Given the description of an element on the screen output the (x, y) to click on. 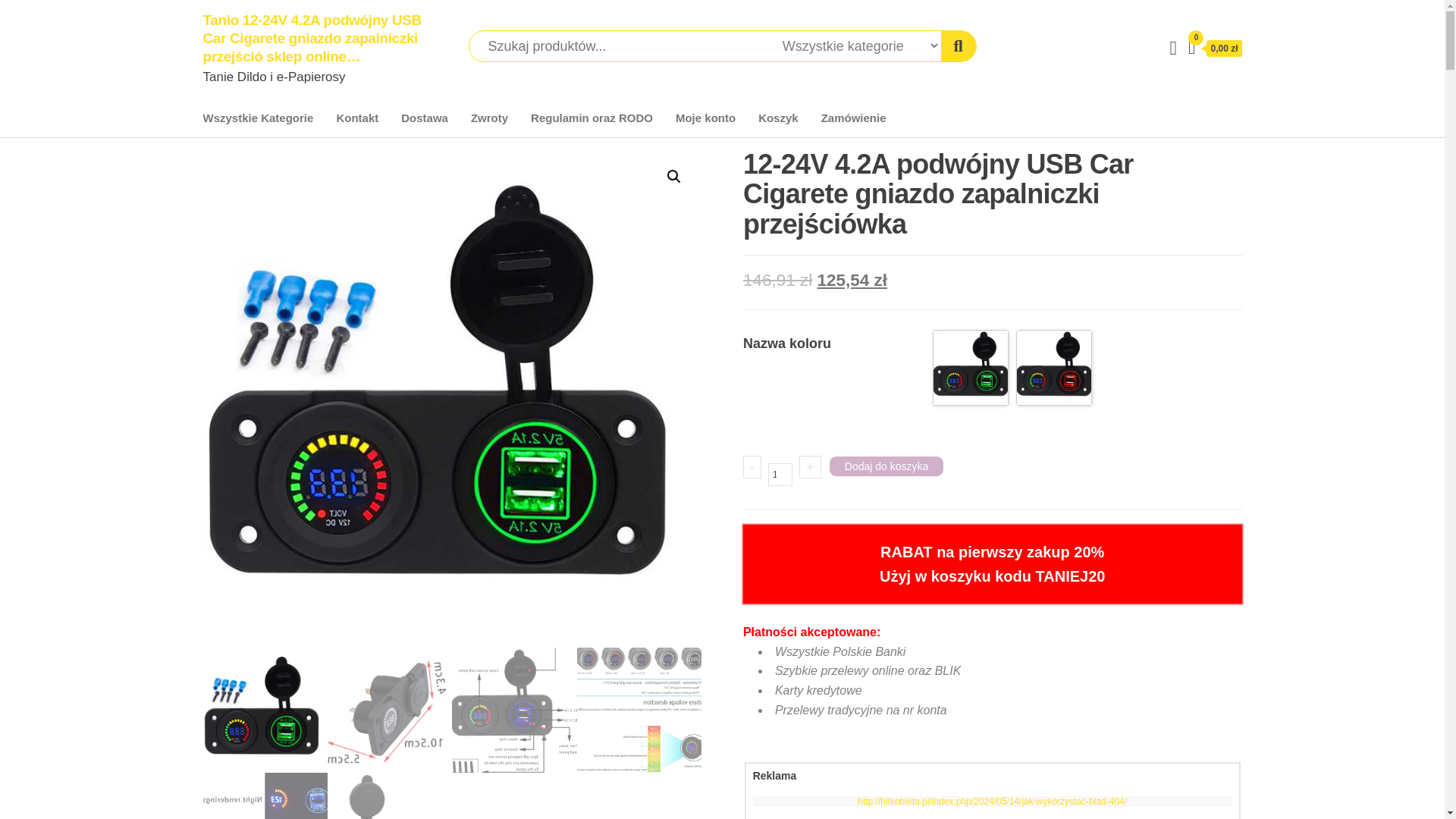
Dostawa (425, 118)
Moje konto (704, 118)
Zwroty (489, 118)
Koszyk (777, 118)
Wszystkie Kategorie (257, 118)
Kontakt (357, 118)
Zwroty (489, 118)
Moje konto (704, 118)
Regulamin oraz RODO (591, 118)
Wszystkie Kategorie (257, 118)
1 (780, 474)
Koszyk (777, 118)
Regulamin oraz RODO (591, 118)
Dodaj do koszyka (886, 465)
Dostawa (425, 118)
